Given the description of an element on the screen output the (x, y) to click on. 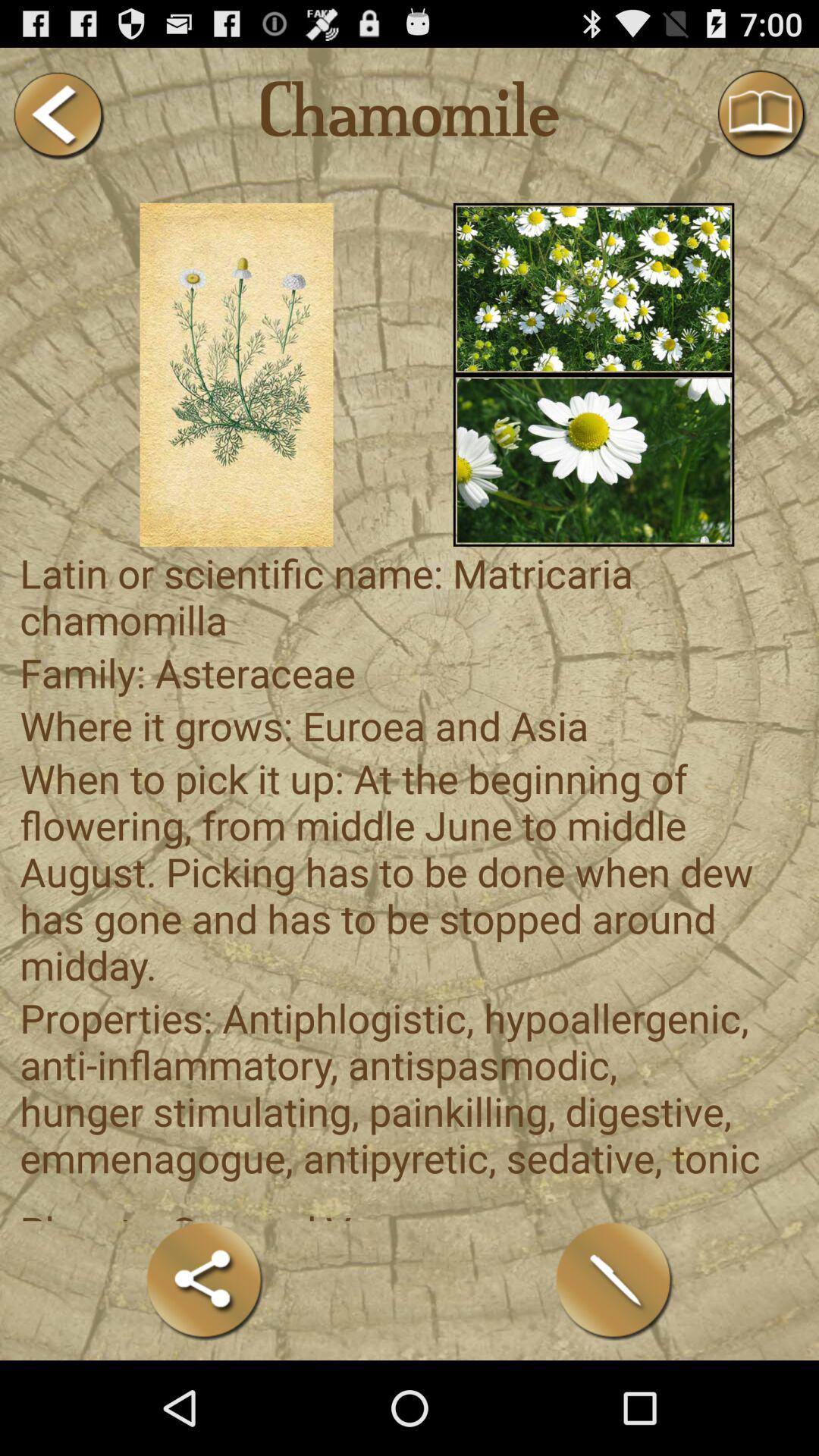
tap app next to chamomile icon (57, 115)
